Given the description of an element on the screen output the (x, y) to click on. 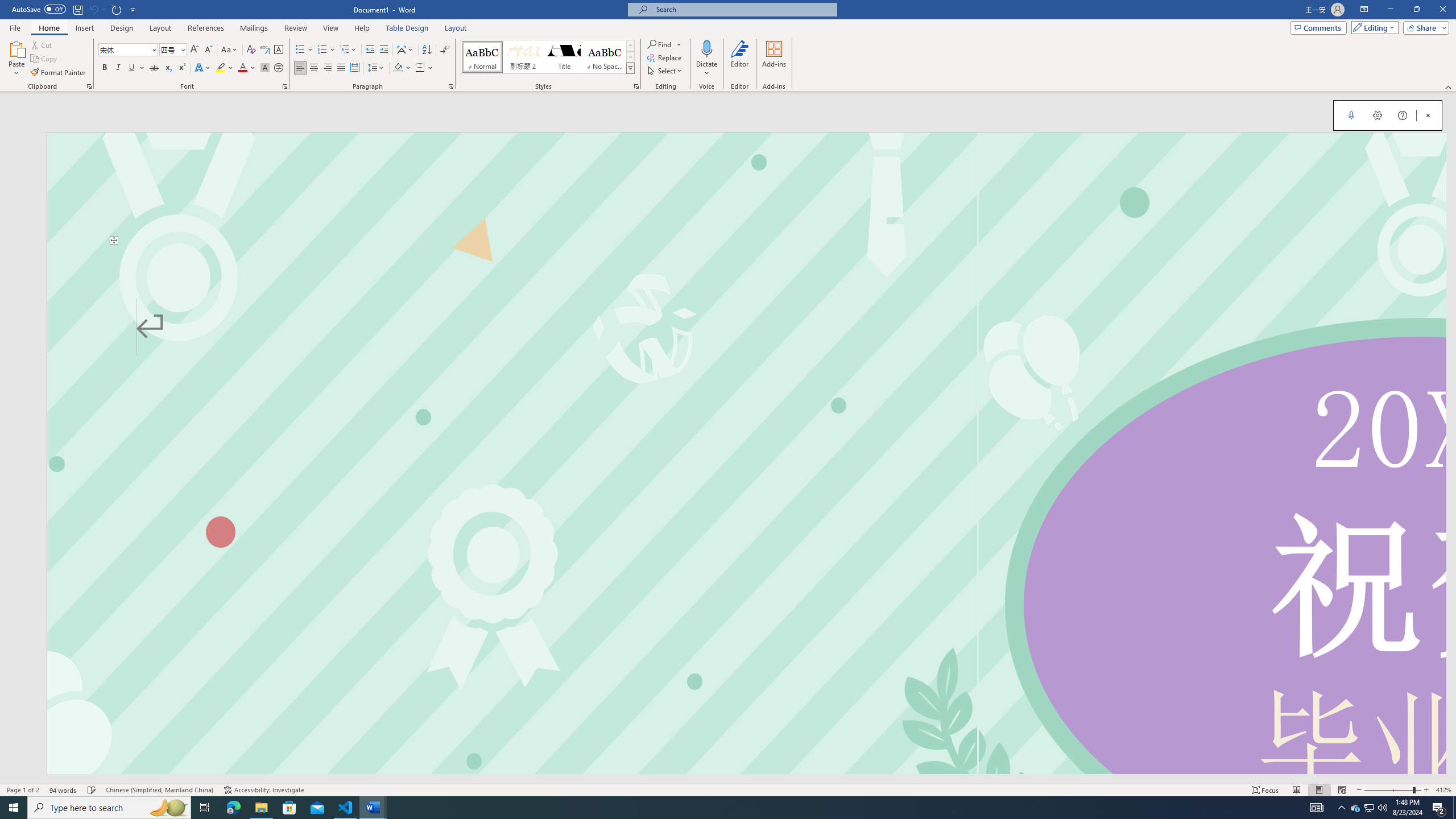
Distributed (354, 67)
Close Dictation (1428, 115)
Page 1 content (745, 508)
Can't Undo (92, 9)
Font Color Red (241, 67)
